Given the description of an element on the screen output the (x, y) to click on. 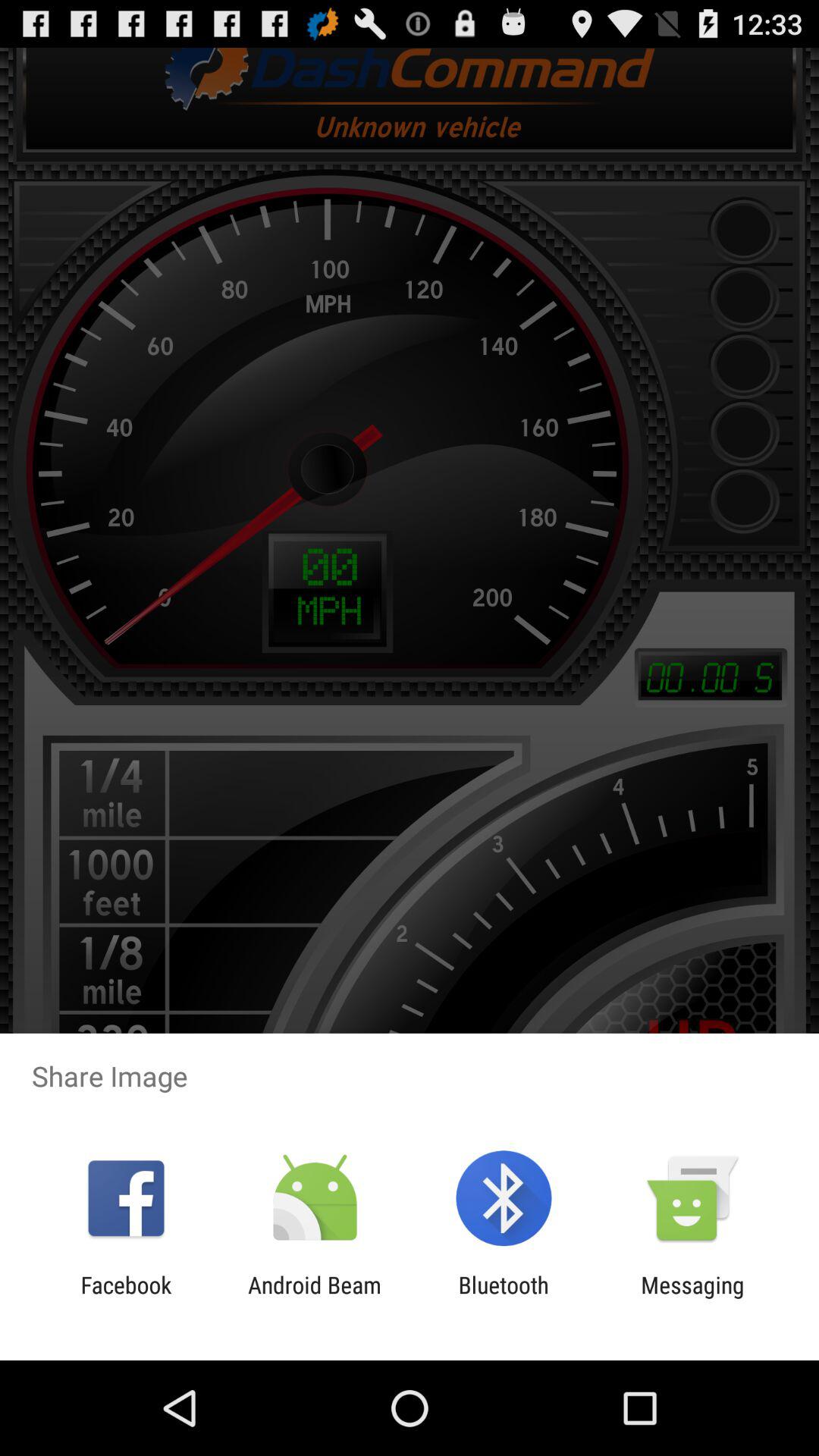
turn off icon next to the android beam icon (125, 1298)
